Given the description of an element on the screen output the (x, y) to click on. 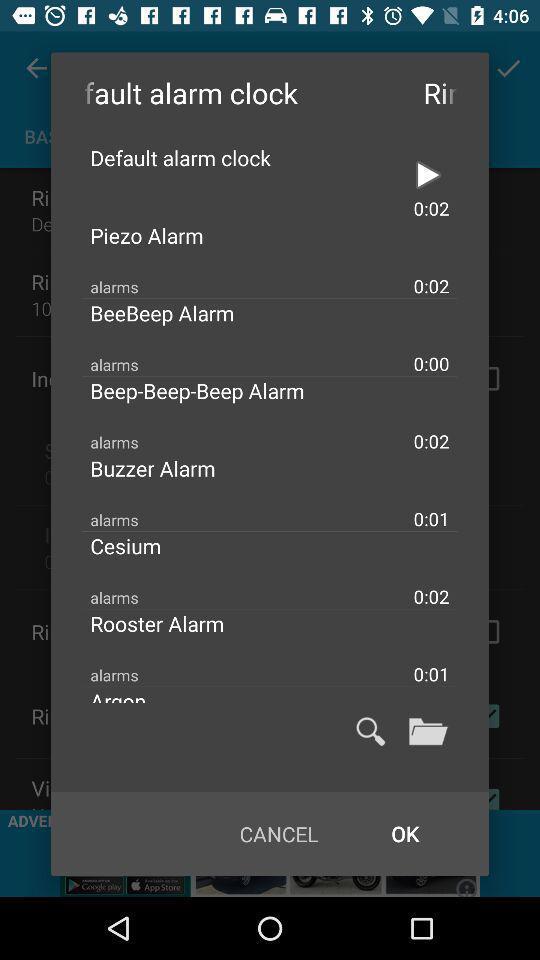
music play the option (428, 175)
